Given the description of an element on the screen output the (x, y) to click on. 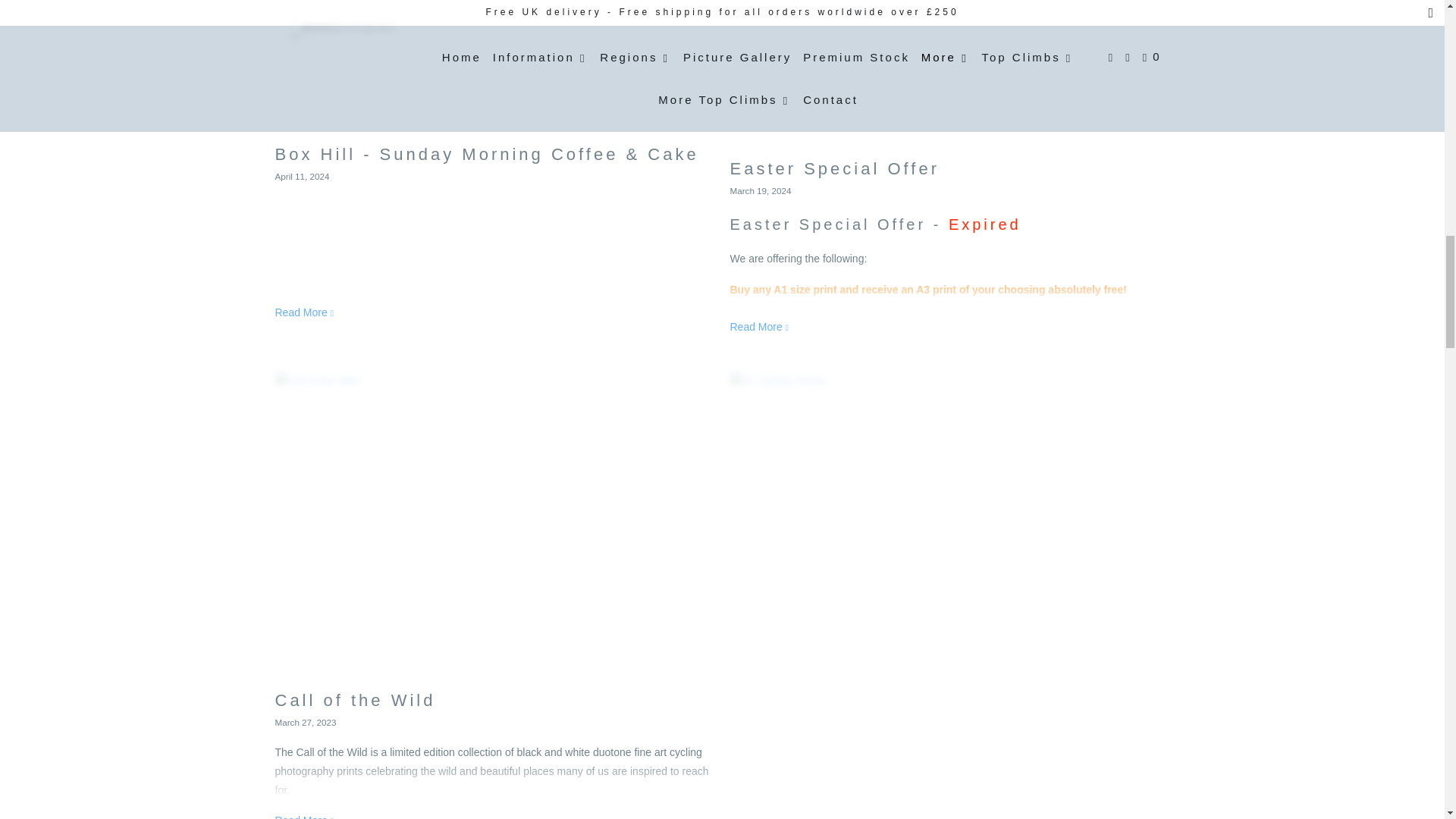
Easter Special Offer (759, 326)
Easter Special Offer (949, 74)
YouTube video player (494, 331)
